Given the description of an element on the screen output the (x, y) to click on. 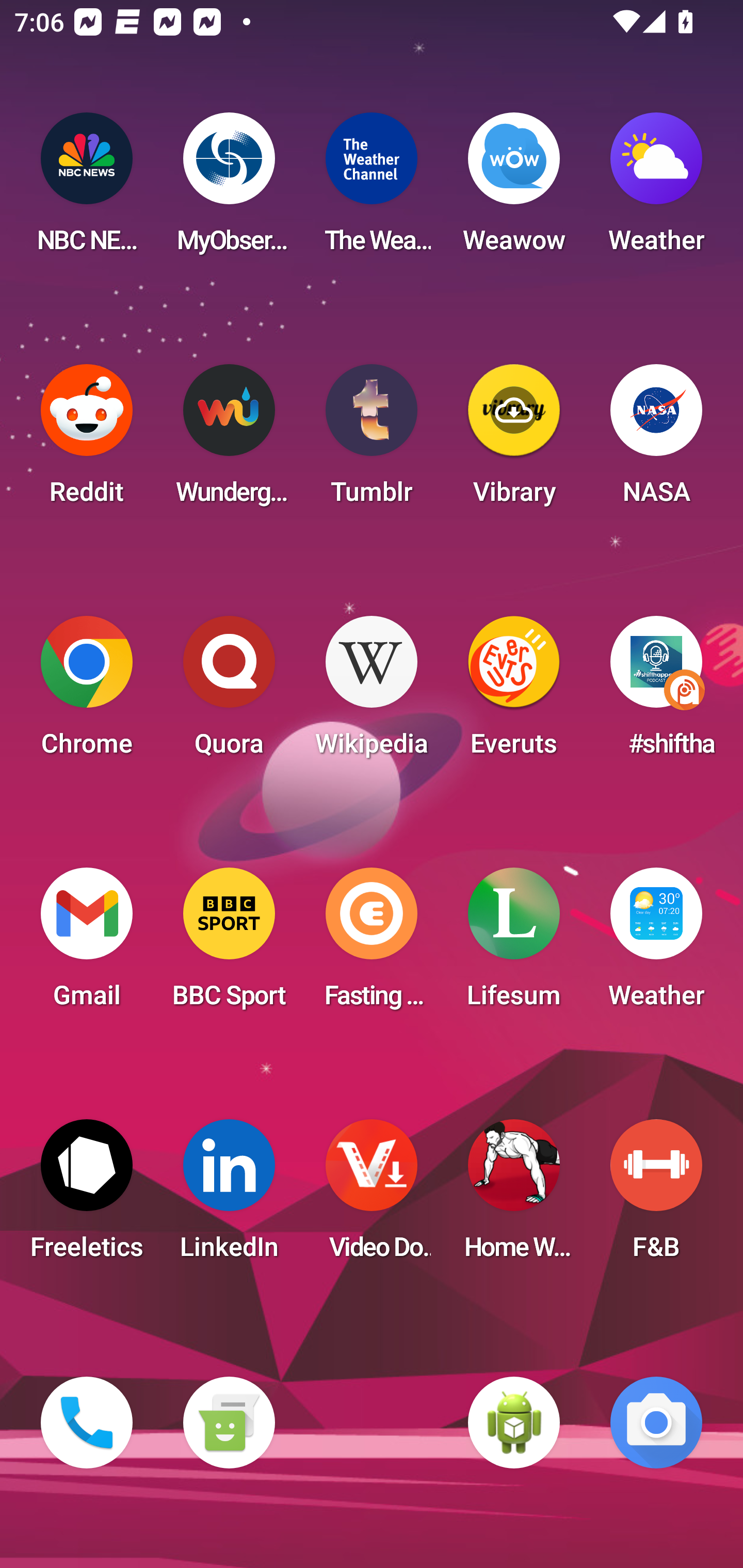
NBC NEWS (86, 188)
MyObservatory (228, 188)
The Weather Channel (371, 188)
Weawow (513, 188)
Weather (656, 188)
Reddit (86, 440)
Wunderground (228, 440)
Tumblr (371, 440)
Vibrary (513, 440)
NASA (656, 440)
Chrome (86, 692)
Quora (228, 692)
Wikipedia (371, 692)
Everuts (513, 692)
#shifthappens in the Digital Workplace Podcast (656, 692)
Gmail (86, 943)
BBC Sport (228, 943)
Fasting Coach (371, 943)
Lifesum (513, 943)
Weather (656, 943)
Freeletics (86, 1195)
LinkedIn (228, 1195)
Video Downloader & Ace Player (371, 1195)
Home Workout (513, 1195)
F&B (656, 1195)
Phone (86, 1422)
Messaging (228, 1422)
WebView Browser Tester (513, 1422)
Camera (656, 1422)
